Given the description of an element on the screen output the (x, y) to click on. 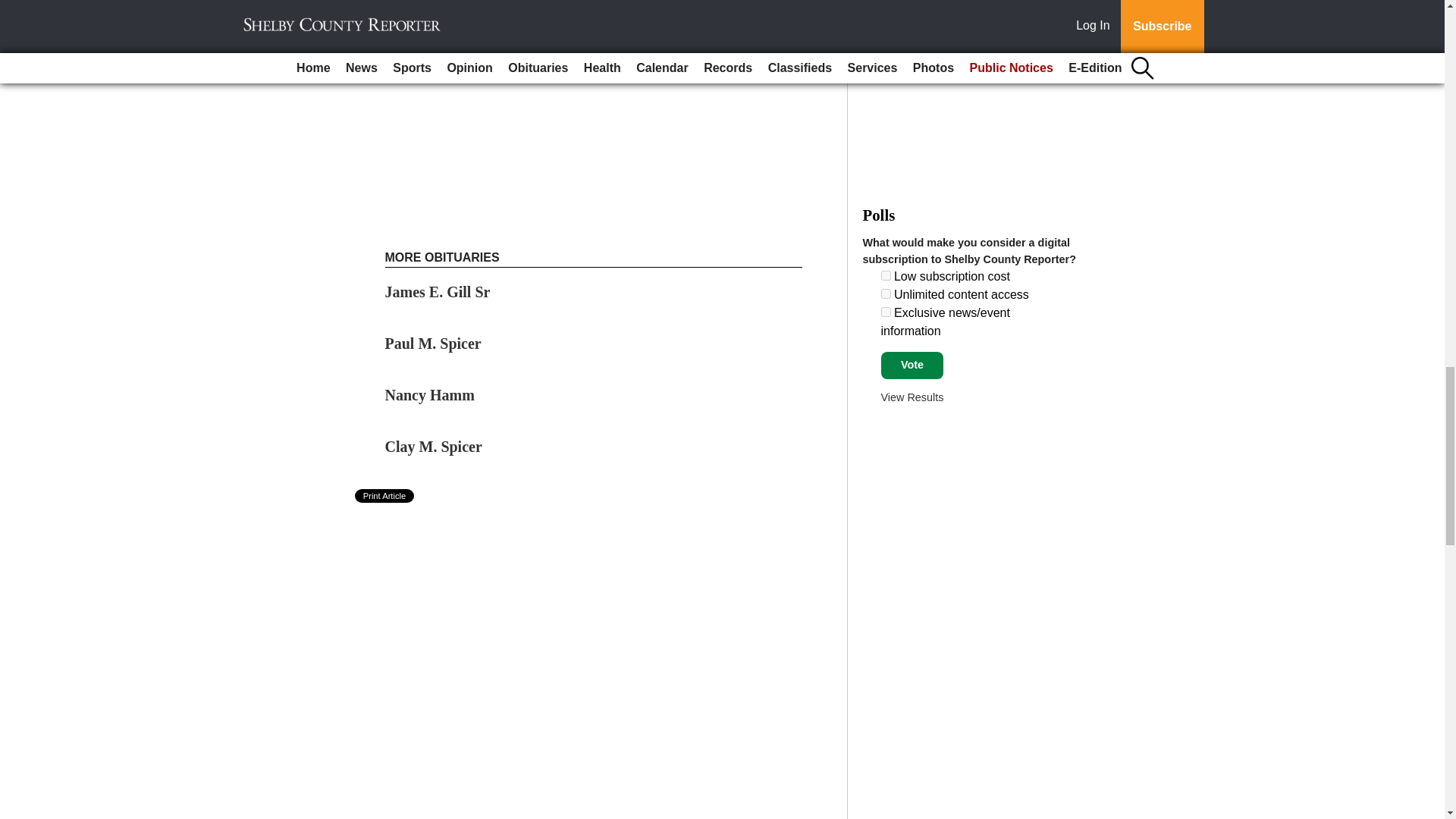
View Results Of This Poll (911, 397)
Paul M. Spicer (433, 343)
4636 (885, 275)
James E. Gill Sr (437, 291)
Nancy Hamm (429, 394)
4638 (885, 311)
4637 (885, 293)
   Vote    (911, 365)
